Given the description of an element on the screen output the (x, y) to click on. 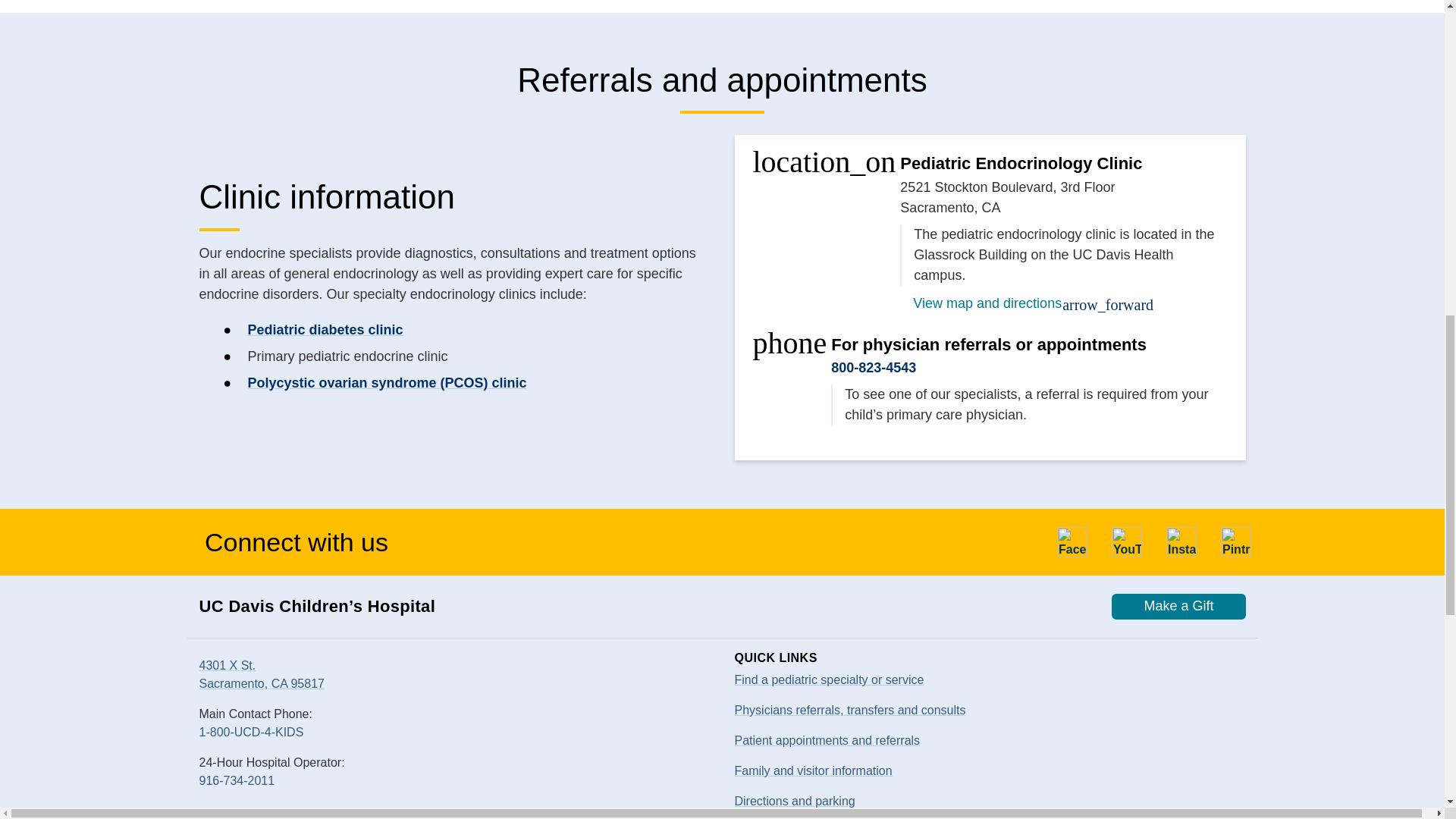
Patient appointments and referrals (826, 739)
Subscribe to UC Davis Children's Hospital on YouTube (1126, 542)
Make a Gift (1178, 606)
View map and directions (997, 301)
Follow UC Davis Children's Hospital on Instagram (1181, 542)
Follow UC Davis Children's Hospital on Pinterest (1235, 542)
Like UC Davis Children's Hospital on Facebook (1072, 542)
Link to pediatric diabetes clinic page (325, 329)
Find a pediatric specialty or service (828, 679)
Appointments and referrals (849, 709)
Family and visitor guidelines for the Children's Hospital (812, 770)
